Given the description of an element on the screen output the (x, y) to click on. 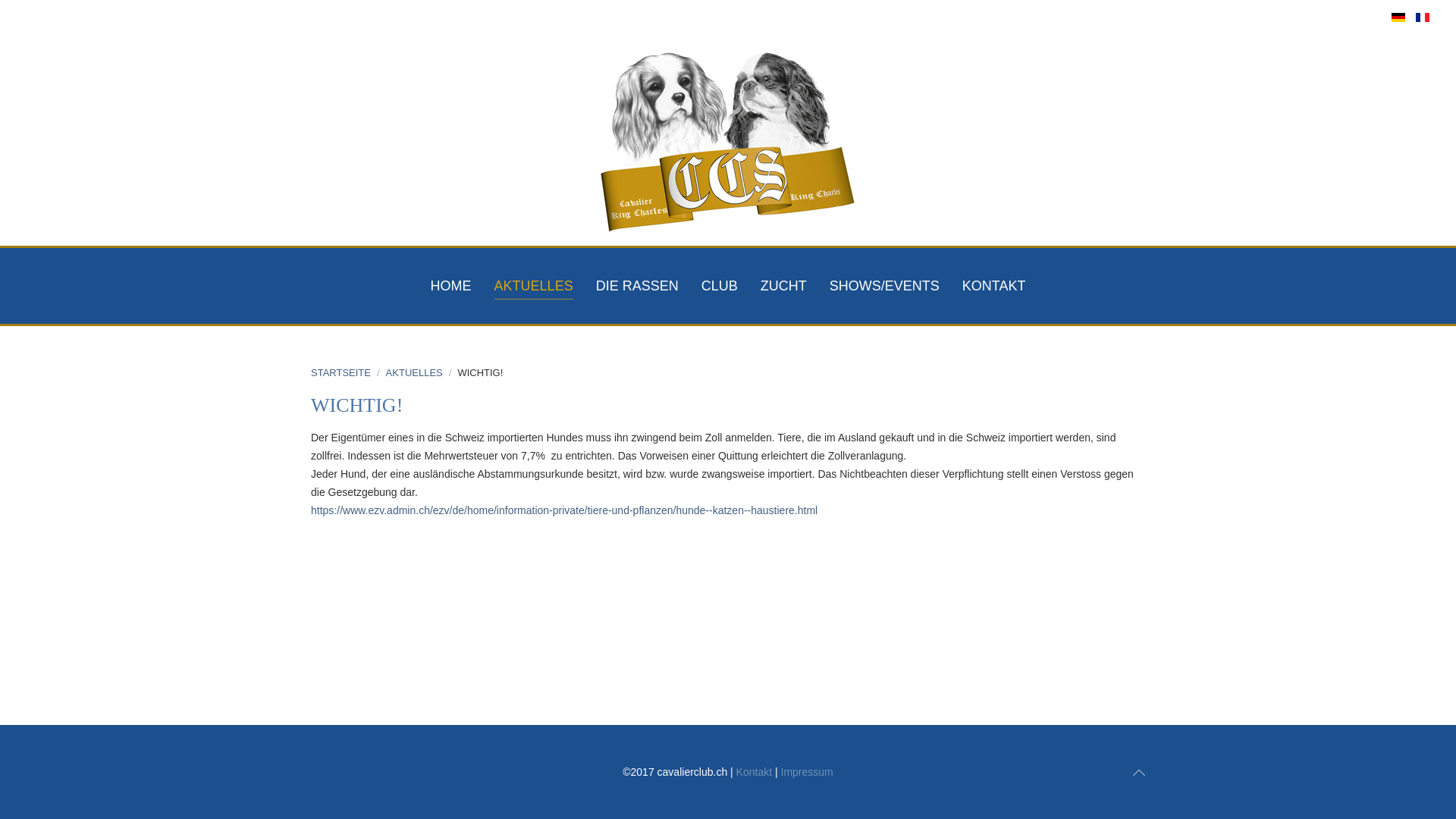
Kontakt Element type: text (755, 771)
Impressum Element type: text (807, 771)
KONTAKT Element type: text (994, 285)
HOME Element type: text (450, 285)
ZUCHT Element type: text (783, 285)
AKTUELLES Element type: text (413, 373)
de-DE Element type: hover (1398, 16)
SHOWS/EVENTS Element type: text (884, 285)
AKTUELLES Element type: text (533, 285)
STARTSEITE Element type: text (340, 373)
DIE RASSEN Element type: text (637, 285)
fr-FR Element type: hover (1422, 16)
CLUB Element type: text (719, 285)
